Given the description of an element on the screen output the (x, y) to click on. 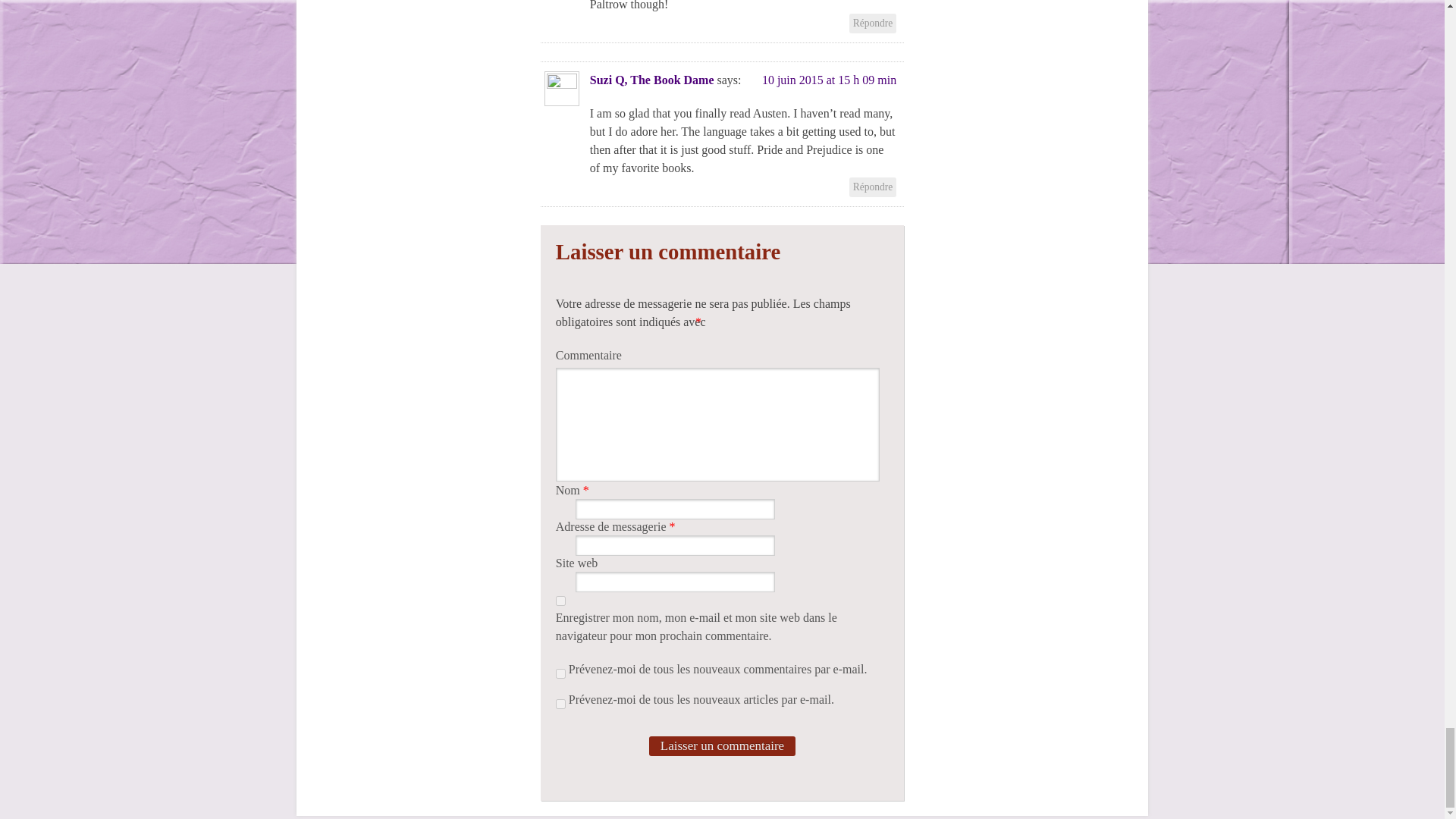
subscribe (561, 673)
Laisser un commentaire (721, 745)
yes (561, 601)
subscribe (561, 704)
